Given the description of an element on the screen output the (x, y) to click on. 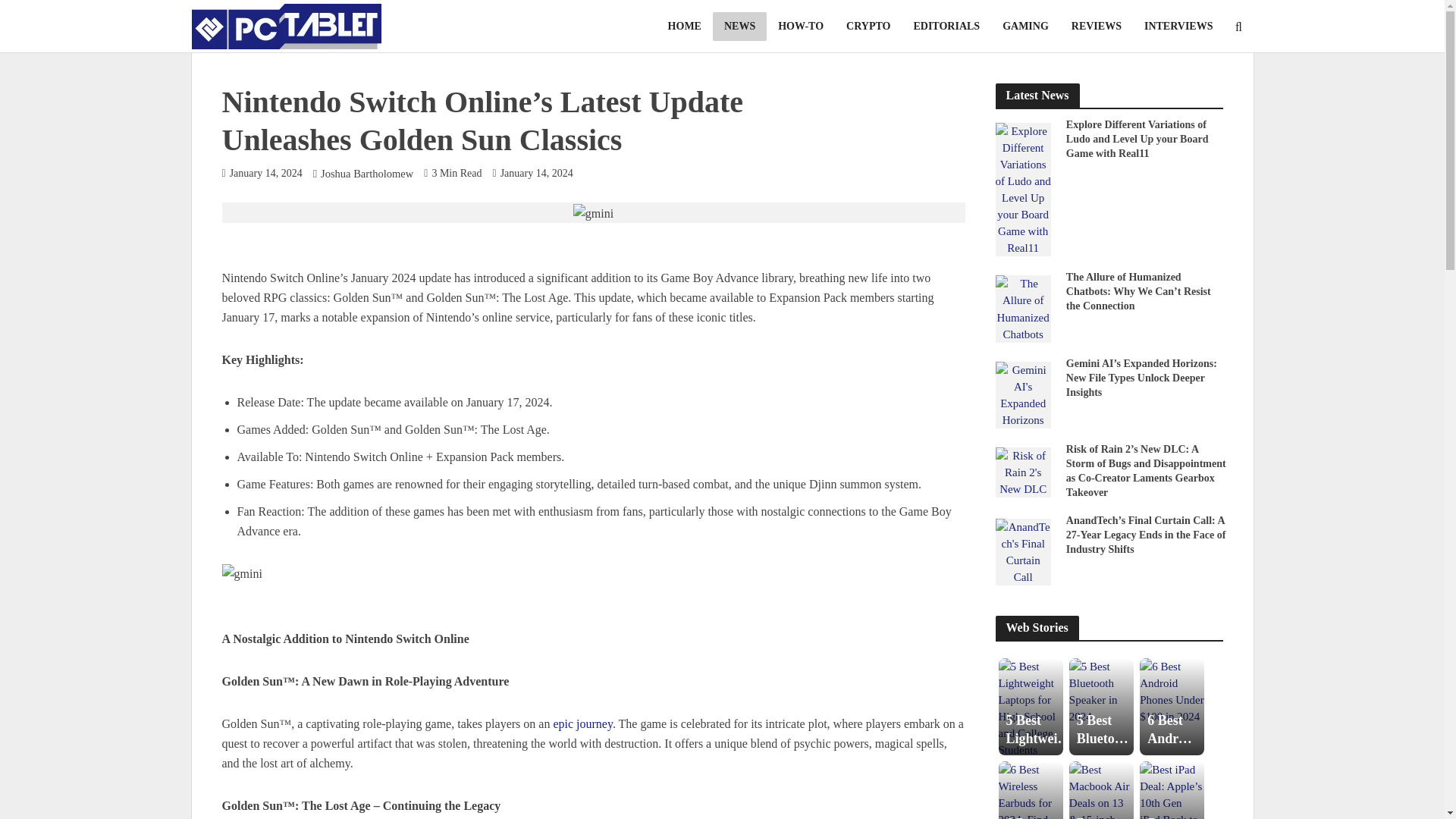
REVIEWS (1095, 26)
Joshua Bartholomew (366, 174)
GAMING (1025, 26)
NEWS (740, 26)
CRYPTO (867, 26)
epic journey (582, 725)
HOW-TO (800, 26)
